Given the description of an element on the screen output the (x, y) to click on. 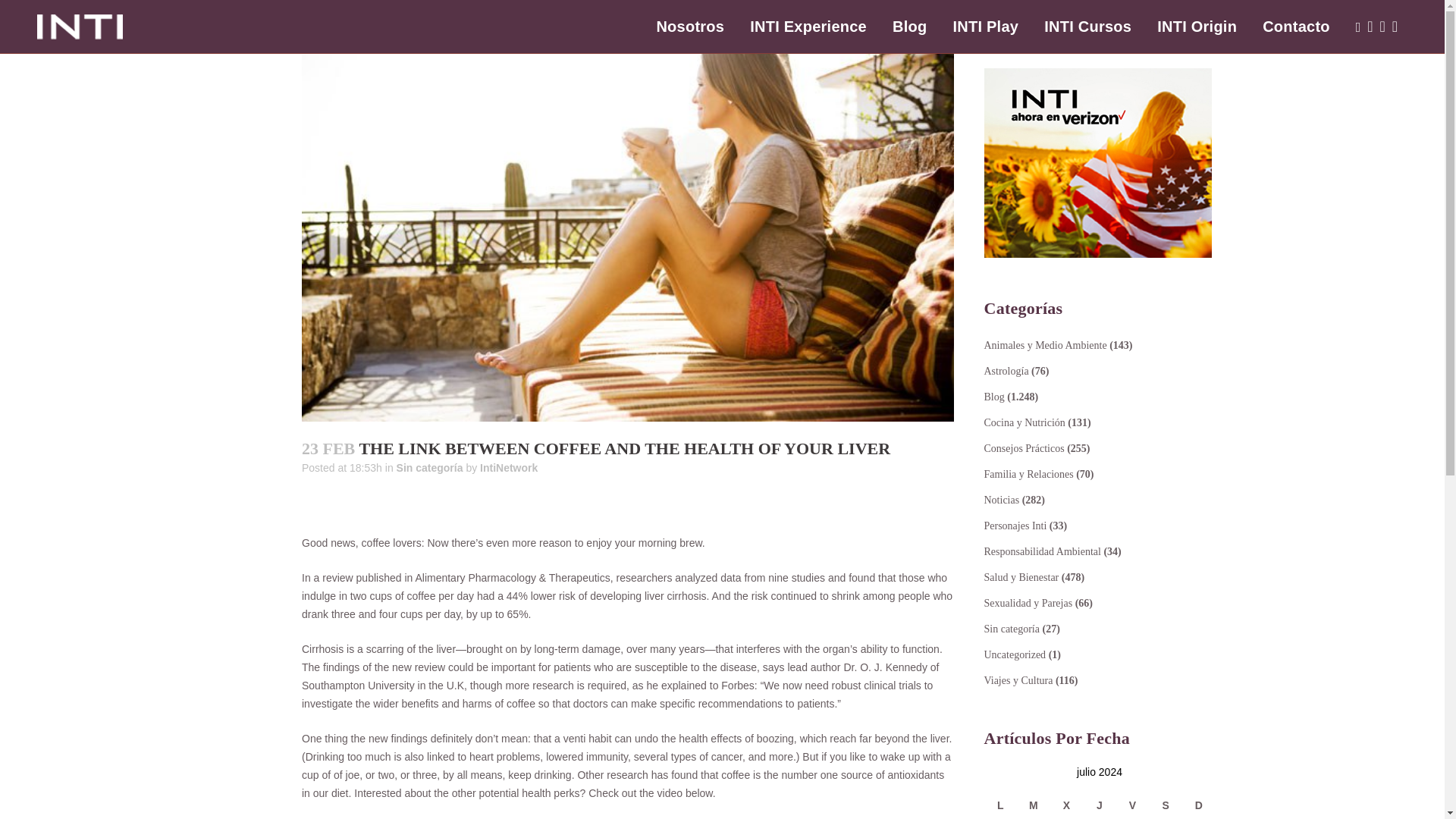
viernes (1133, 805)
INTI Play (984, 26)
lunes (1000, 805)
INTI Origin (1196, 26)
domingo (1198, 805)
jueves (1099, 805)
Blog (909, 26)
Nosotros (689, 26)
INTI Cursos (1087, 26)
INTI Experience (807, 26)
Contacto (1295, 26)
martes (1032, 805)
